Given the description of an element on the screen output the (x, y) to click on. 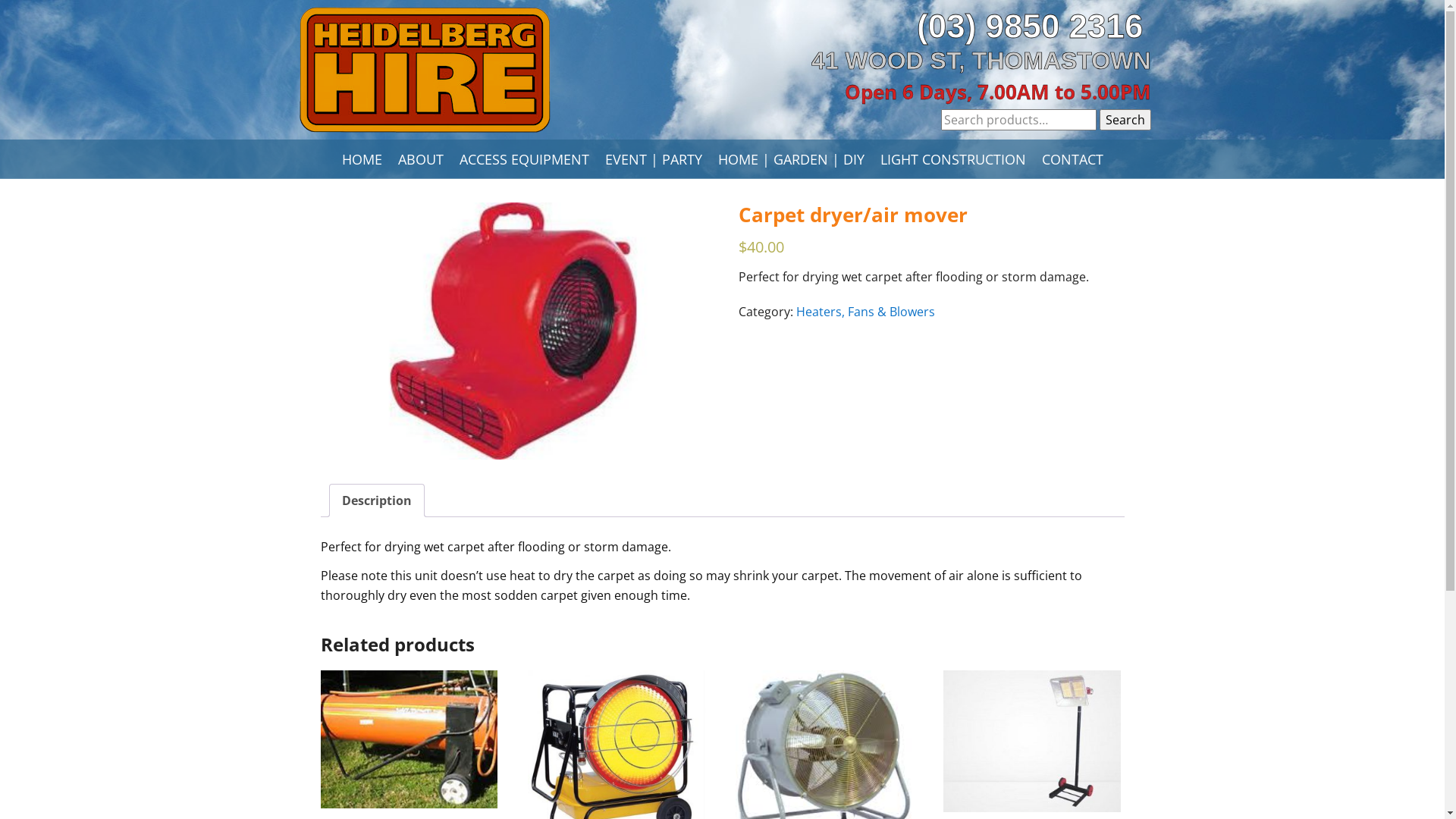
ACCESS EQUIPMENT Element type: text (524, 158)
Heaters, Fans & Blowers Element type: text (865, 311)
Search Element type: text (1125, 119)
carpet blower Element type: hover (513, 330)
EVENT | PARTY Element type: text (653, 158)
Description Element type: text (376, 500)
LIGHT CONSTRUCTION Element type: text (952, 158)
Heidelberg Hire - Tool and Equipment Hire - Thomastown Element type: text (424, 69)
HOME | GARDEN | DIY Element type: text (790, 158)
ABOUT Element type: text (419, 158)
HOME Element type: text (361, 158)
(03) 9850 2316 Element type: text (1033, 25)
CONTACT Element type: text (1072, 158)
